Given the description of an element on the screen output the (x, y) to click on. 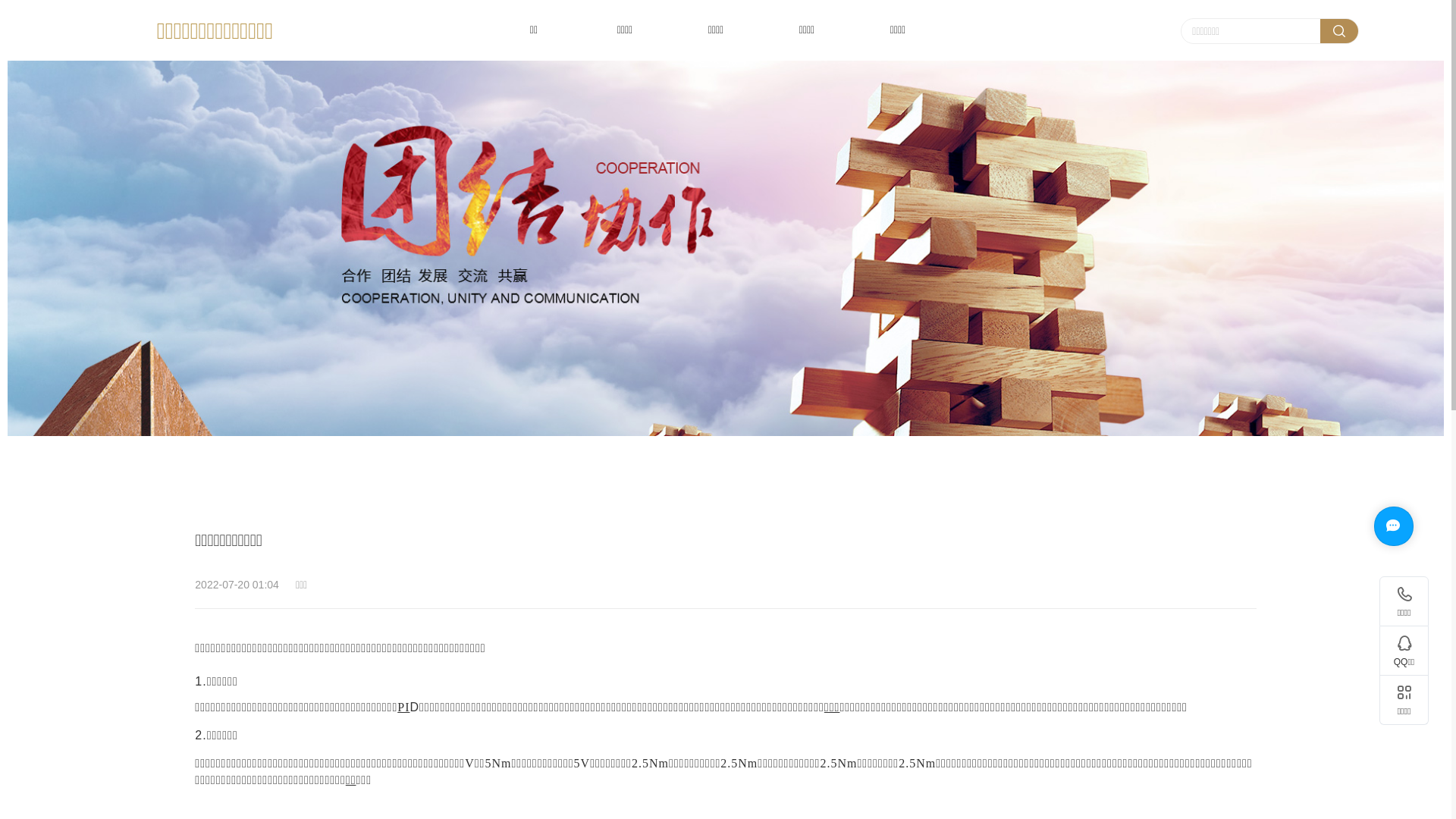
PI Element type: text (403, 707)
